Given the description of an element on the screen output the (x, y) to click on. 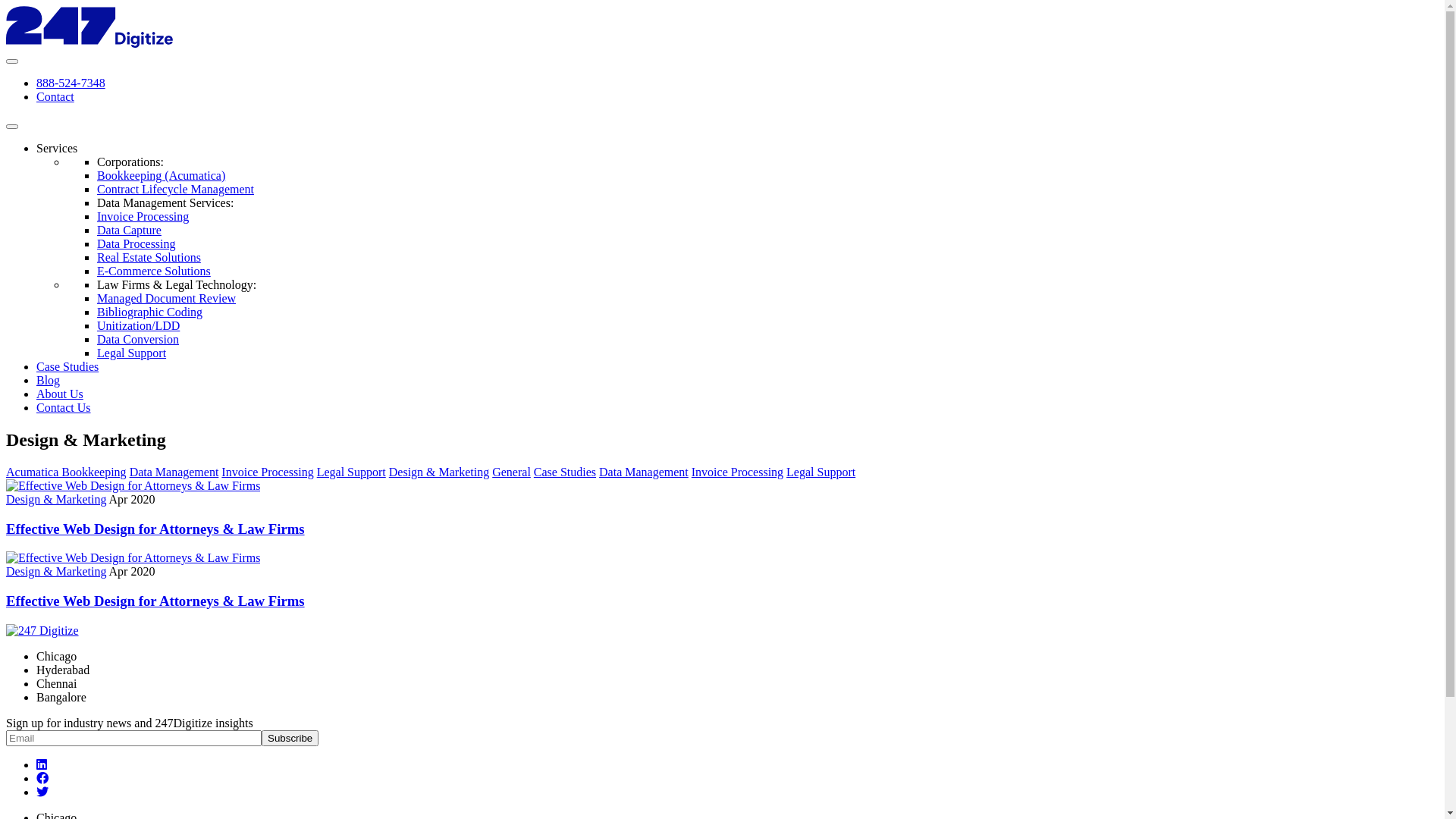
Effective Web Design for Attorneys & Law Firms Element type: hover (133, 485)
Subscribe Element type: text (289, 738)
Design & Marketing Element type: text (439, 471)
Legal Support Element type: text (350, 471)
Data Capture Element type: text (129, 229)
Contact Us Element type: text (63, 407)
Corporations: Element type: text (130, 161)
Invoice Processing Element type: text (737, 471)
Case Studies Element type: text (564, 471)
Managed Document Review Element type: text (166, 297)
Data Management Element type: text (174, 471)
Effective Web Design for Attorneys & Law Firms Element type: text (155, 600)
Data Processing Element type: text (136, 243)
Services Element type: text (56, 147)
Effective Web Design for Attorneys & Law Firms Element type: text (155, 528)
Case Studies Element type: text (67, 366)
Effective Web Design for Attorneys & Law Firms Element type: hover (133, 557)
Legal Support Element type: text (820, 471)
888-524-7348 Element type: text (70, 82)
Invoice Processing Element type: text (267, 471)
Data Management Services: Element type: text (165, 202)
Contract Lifecycle Management Element type: text (175, 188)
General Element type: text (511, 471)
Unitization/LDD Element type: text (138, 325)
Design & Marketing Element type: text (56, 570)
About Us Element type: text (59, 393)
Blog Element type: text (47, 379)
E-Commerce Solutions Element type: text (153, 270)
Real Estate Solutions Element type: text (148, 257)
Bibliographic Coding Element type: text (149, 311)
Invoice Processing Element type: text (142, 216)
Data Management Element type: text (643, 471)
Bookkeeping (Acumatica) Element type: text (161, 175)
Acumatica Bookkeeping Element type: text (66, 471)
Data Conversion Element type: text (137, 338)
Design & Marketing Element type: text (56, 498)
Law Firms & Legal Technology: Element type: text (176, 284)
Legal Support Element type: text (131, 352)
Contact Element type: text (55, 96)
